Given the description of an element on the screen output the (x, y) to click on. 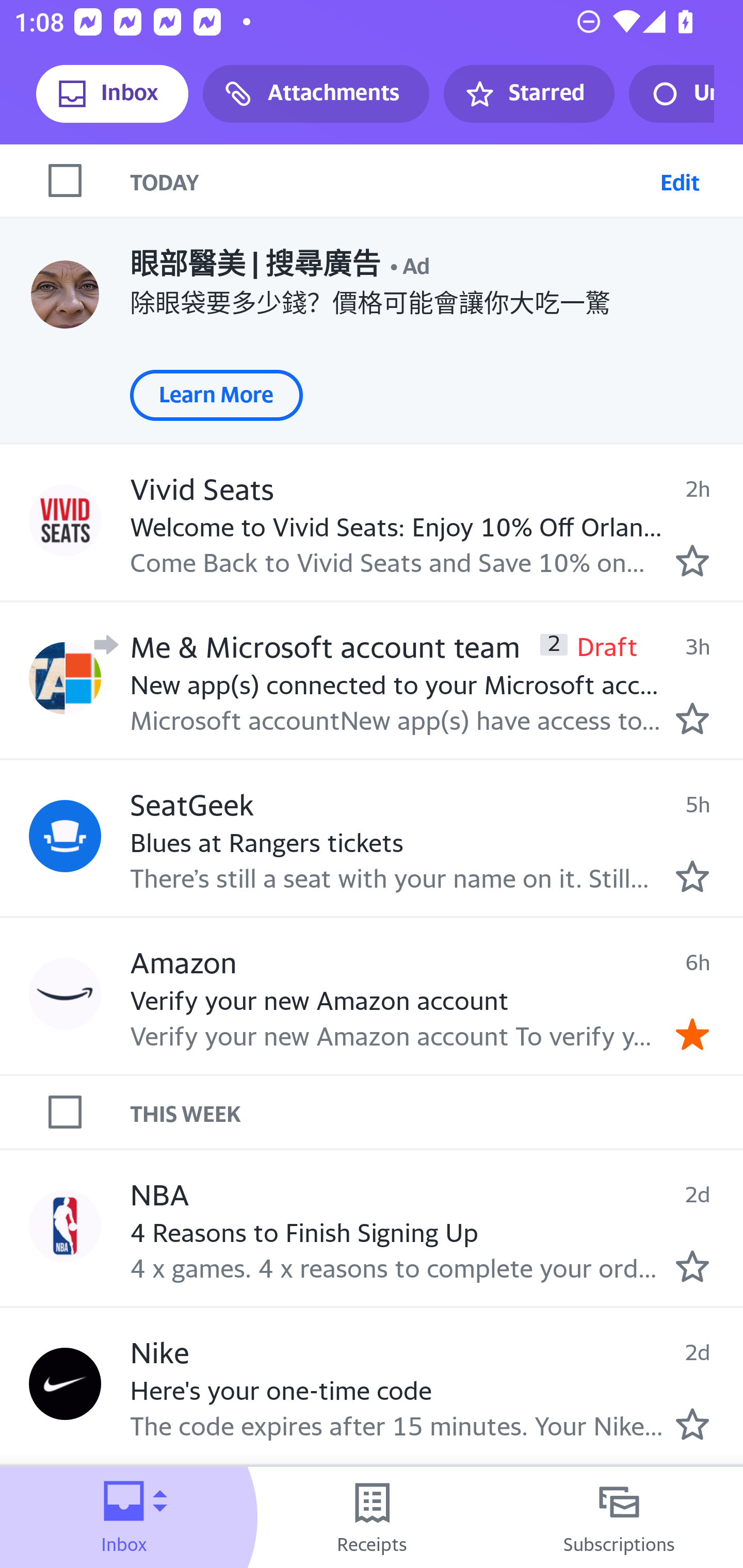
Attachments (315, 93)
Starred (528, 93)
Unread (671, 93)
TODAY (391, 180)
Edit Select emails (679, 180)
Profile
Vivid Seats (64, 520)
Mark as starred. (692, 560)
Profile
Me & Microsoft account team (64, 678)
Mark as starred. (692, 718)
Profile
SeatGeek (64, 835)
Mark as starred. (692, 875)
Profile
Amazon (64, 994)
Remove star. (692, 1034)
THIS WEEK (436, 1112)
Profile
NBA (64, 1226)
Mark as starred. (692, 1266)
Profile
Nike (64, 1384)
Mark as starred. (692, 1424)
Inbox Folder picker (123, 1517)
Receipts (371, 1517)
Subscriptions (619, 1517)
